Given the description of an element on the screen output the (x, y) to click on. 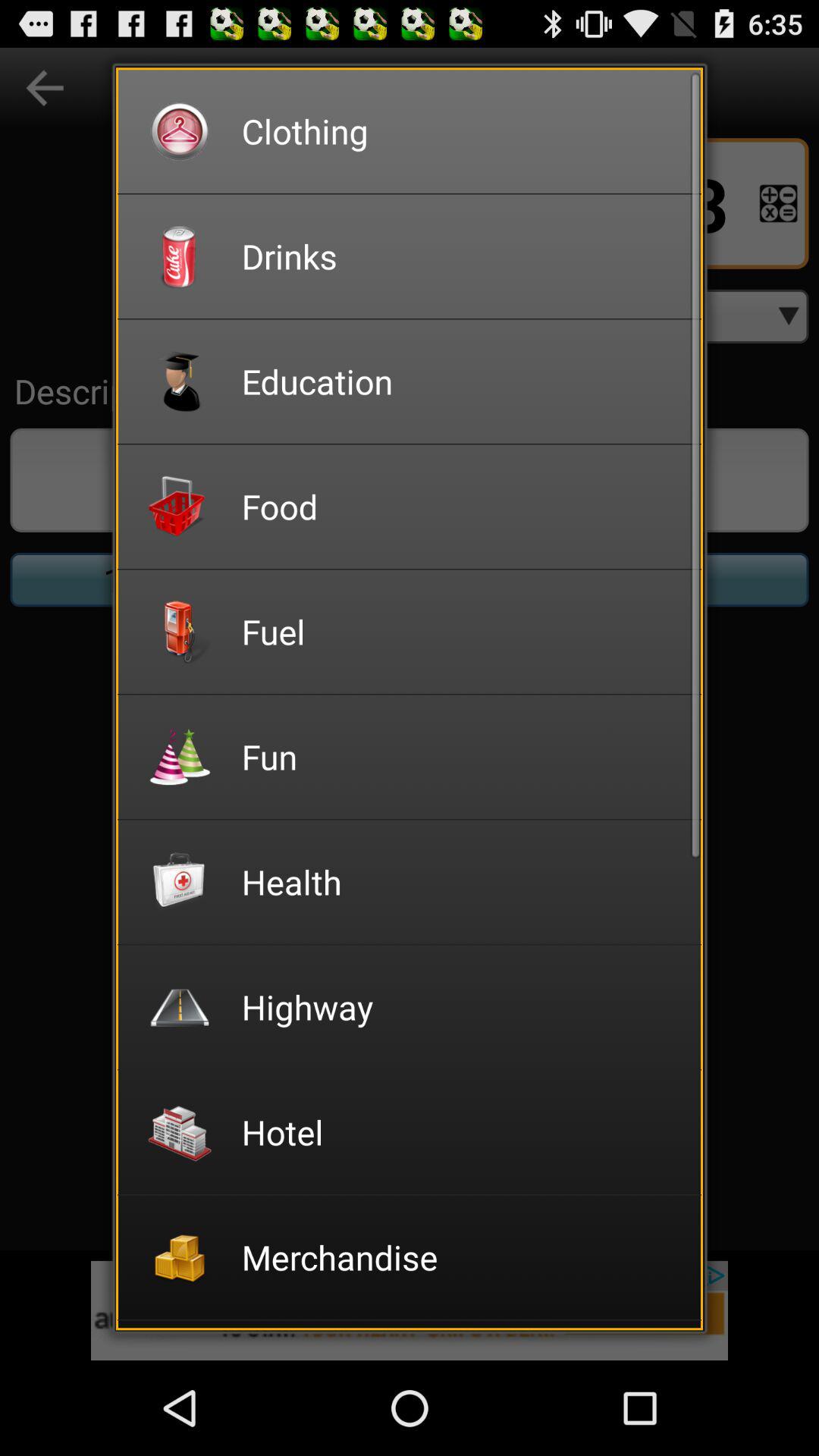
tap icon below drinks item (461, 381)
